Given the description of an element on the screen output the (x, y) to click on. 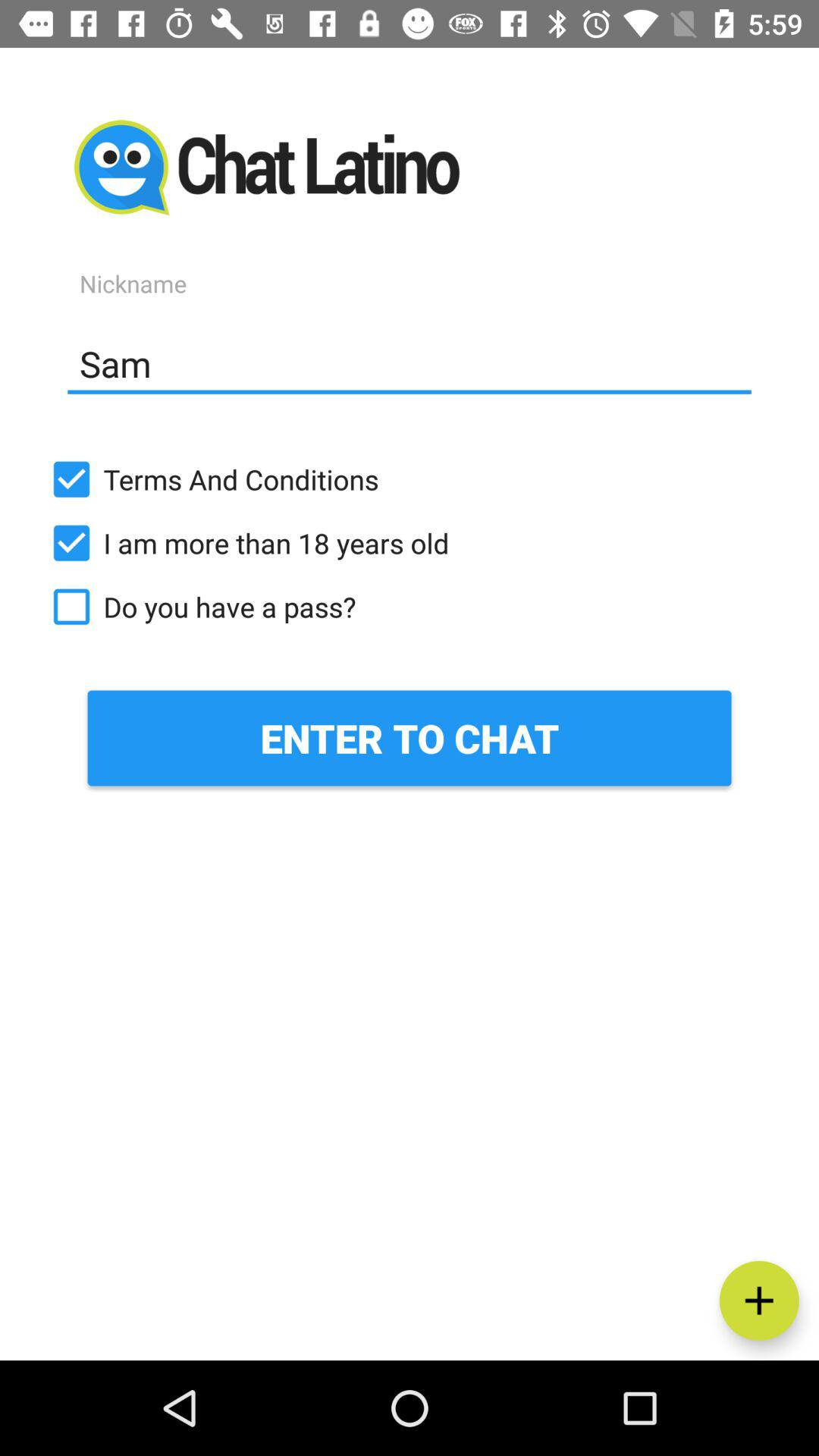
press item above the i am more item (409, 479)
